Given the description of an element on the screen output the (x, y) to click on. 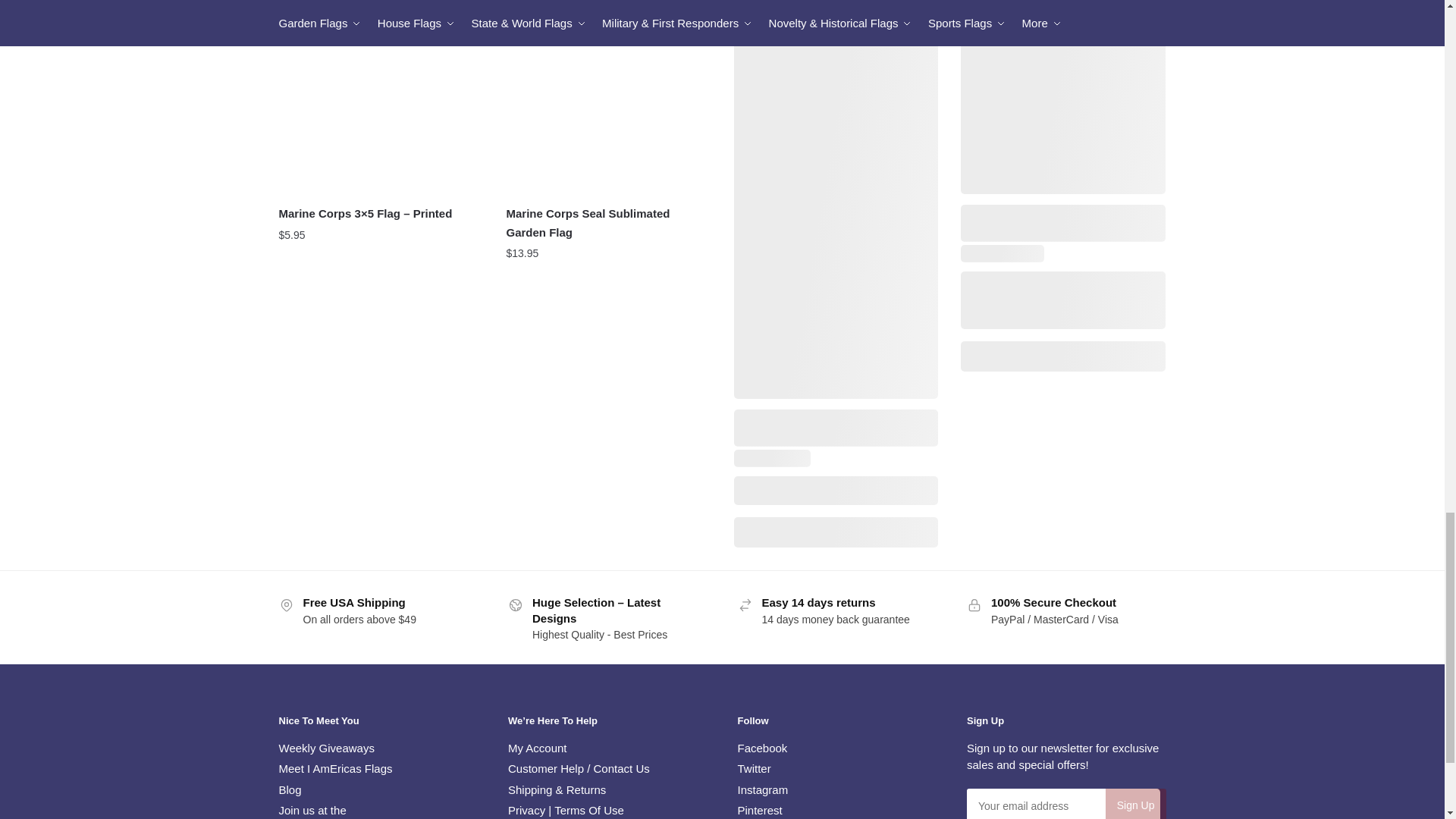
Marine Corps Seal Sublimated Garden Flag (608, 97)
Sign up (1135, 803)
